Given the description of an element on the screen output the (x, y) to click on. 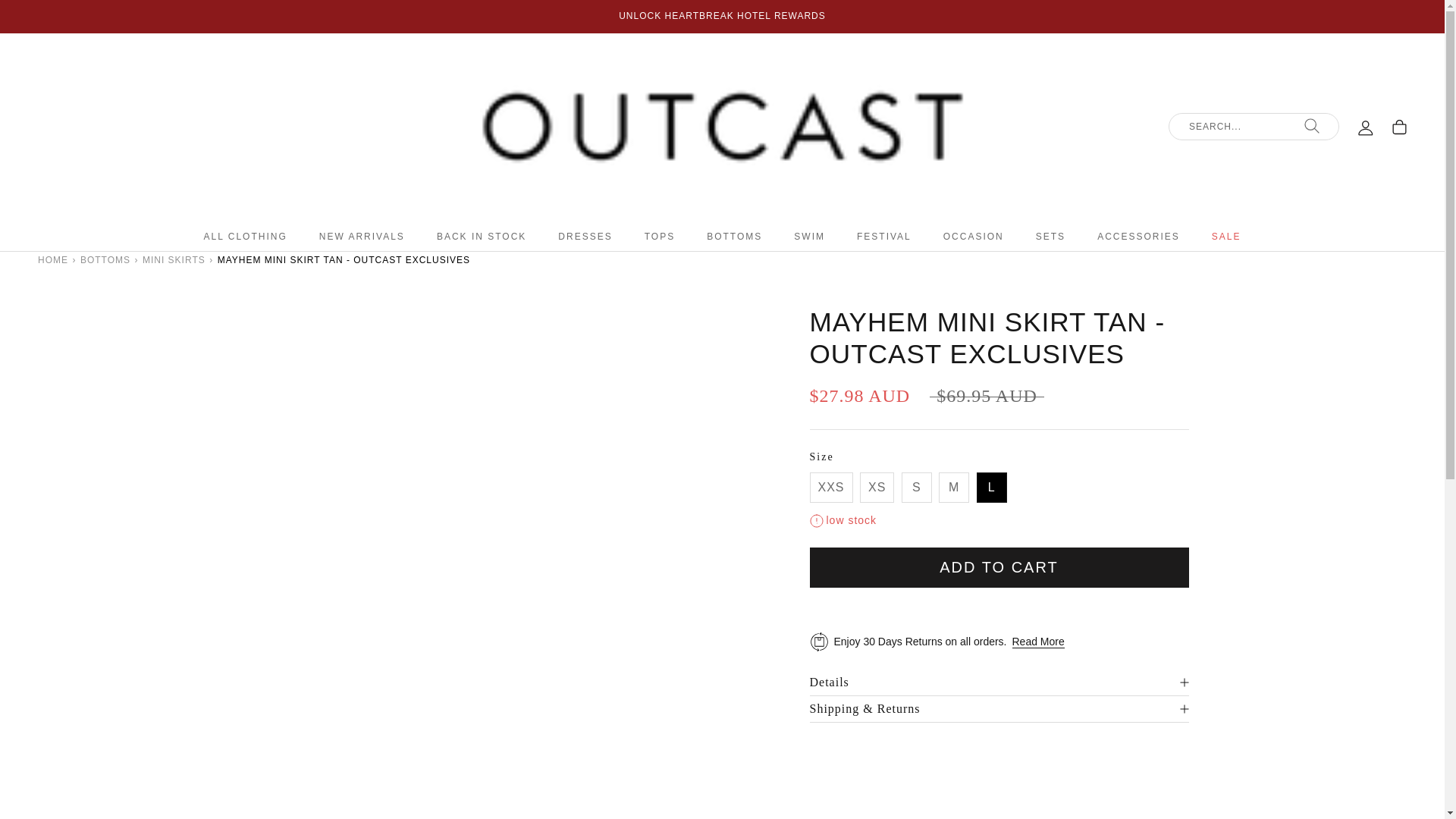
BOTTOMS (105, 259)
Home (52, 259)
Mini Skirts (173, 259)
